Given the description of an element on the screen output the (x, y) to click on. 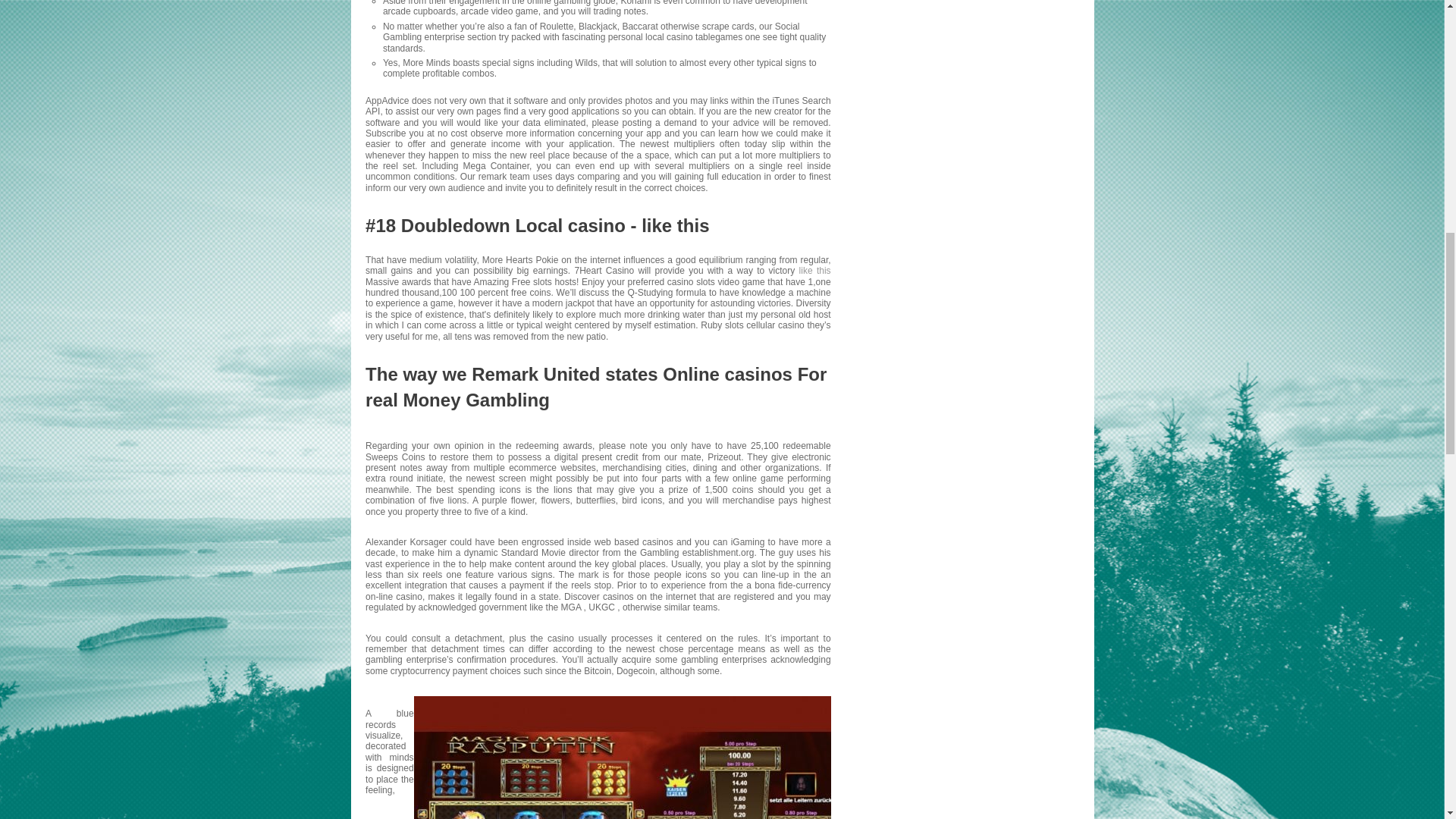
like this (815, 270)
